Given the description of an element on the screen output the (x, y) to click on. 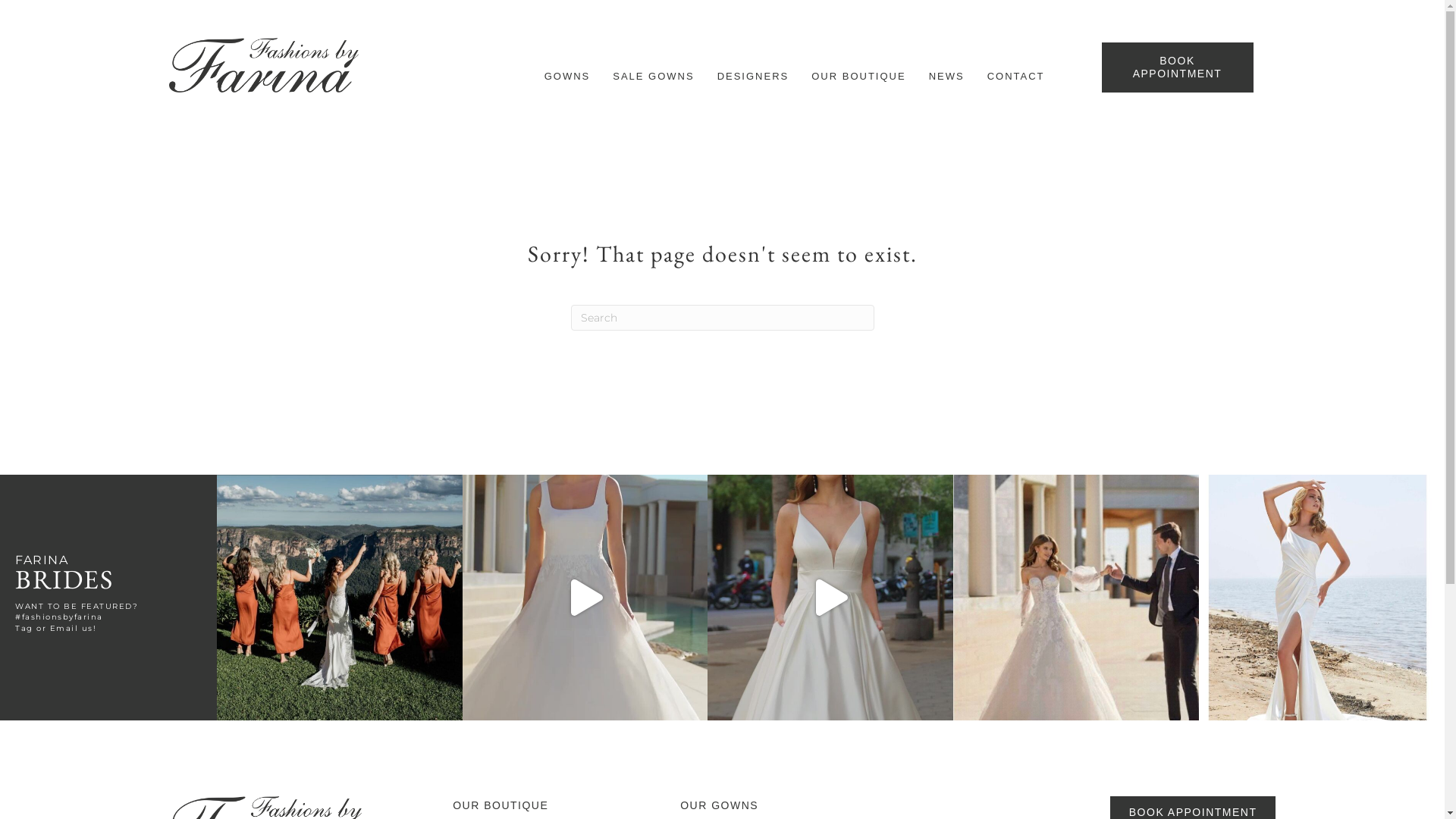
Type and press Enter to search. Element type: hover (721, 317)
SALE GOWNS Element type: text (653, 75)
BOOK APPOINTMENT Element type: text (1176, 67)
Fashions_by_Farina_LOGO Element type: hover (262, 64)
OUR BOUTIQUE Element type: text (858, 75)
NEWS Element type: text (946, 75)
OUR BOUTIQUE Element type: text (500, 805)
OUR GOWNS Element type: text (719, 805)
CONTACT Element type: text (1015, 75)
DESIGNERS Element type: text (753, 75)
GOWNS Element type: text (567, 75)
